Given the description of an element on the screen output the (x, y) to click on. 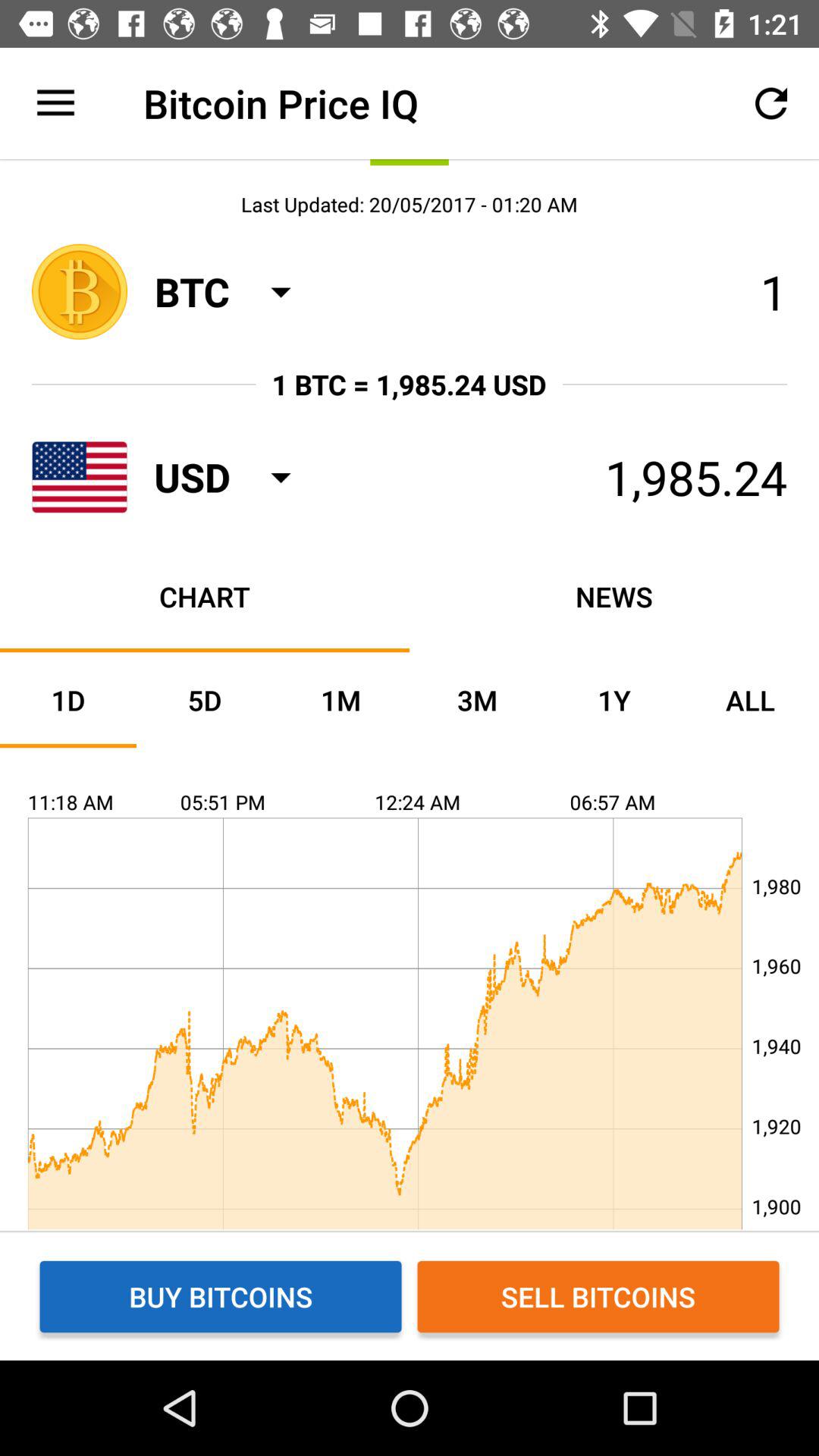
press the icon to the left of the sell bitcoins icon (220, 1296)
